Given the description of an element on the screen output the (x, y) to click on. 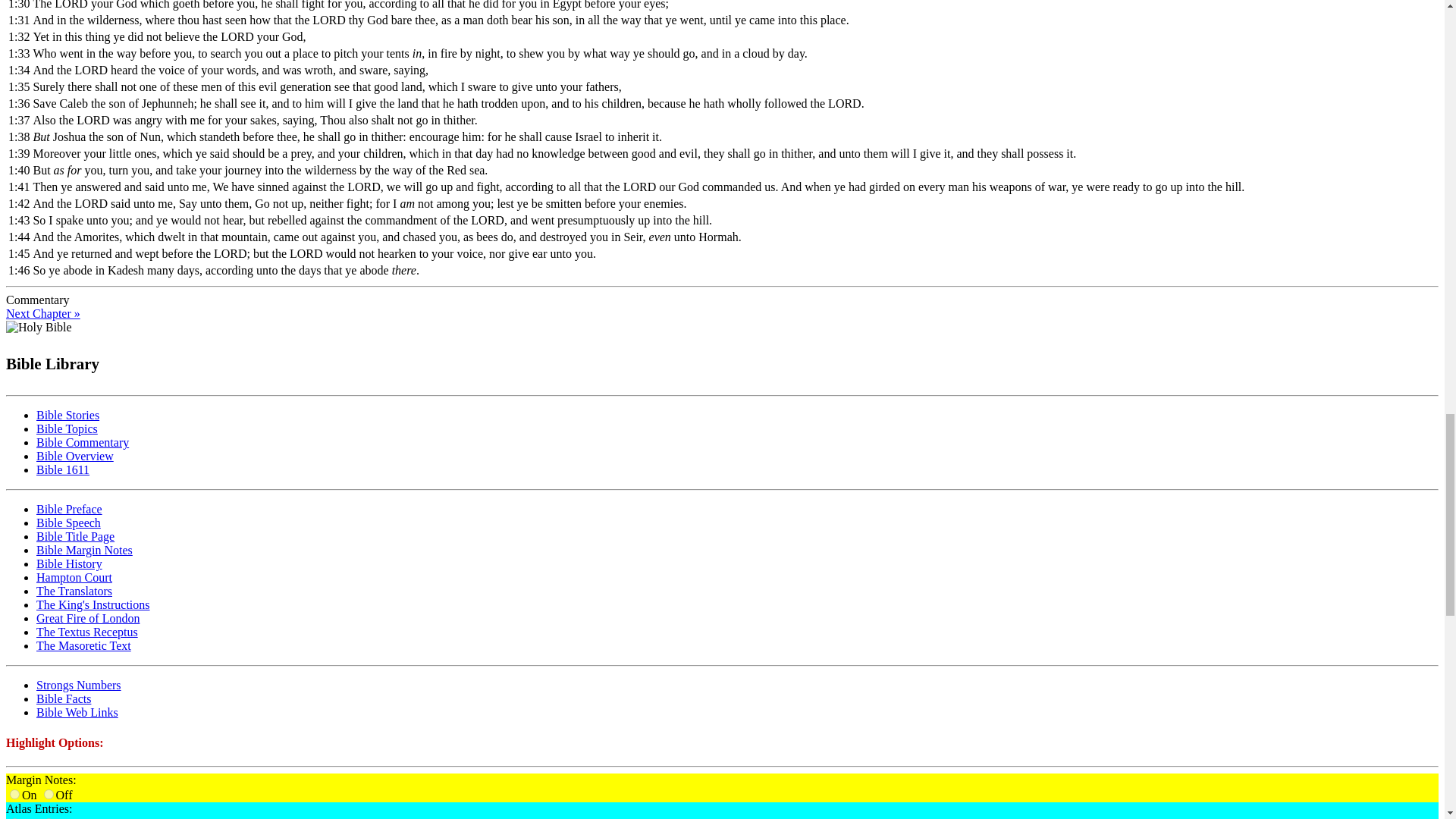
On (15, 794)
Off (48, 794)
